Given the description of an element on the screen output the (x, y) to click on. 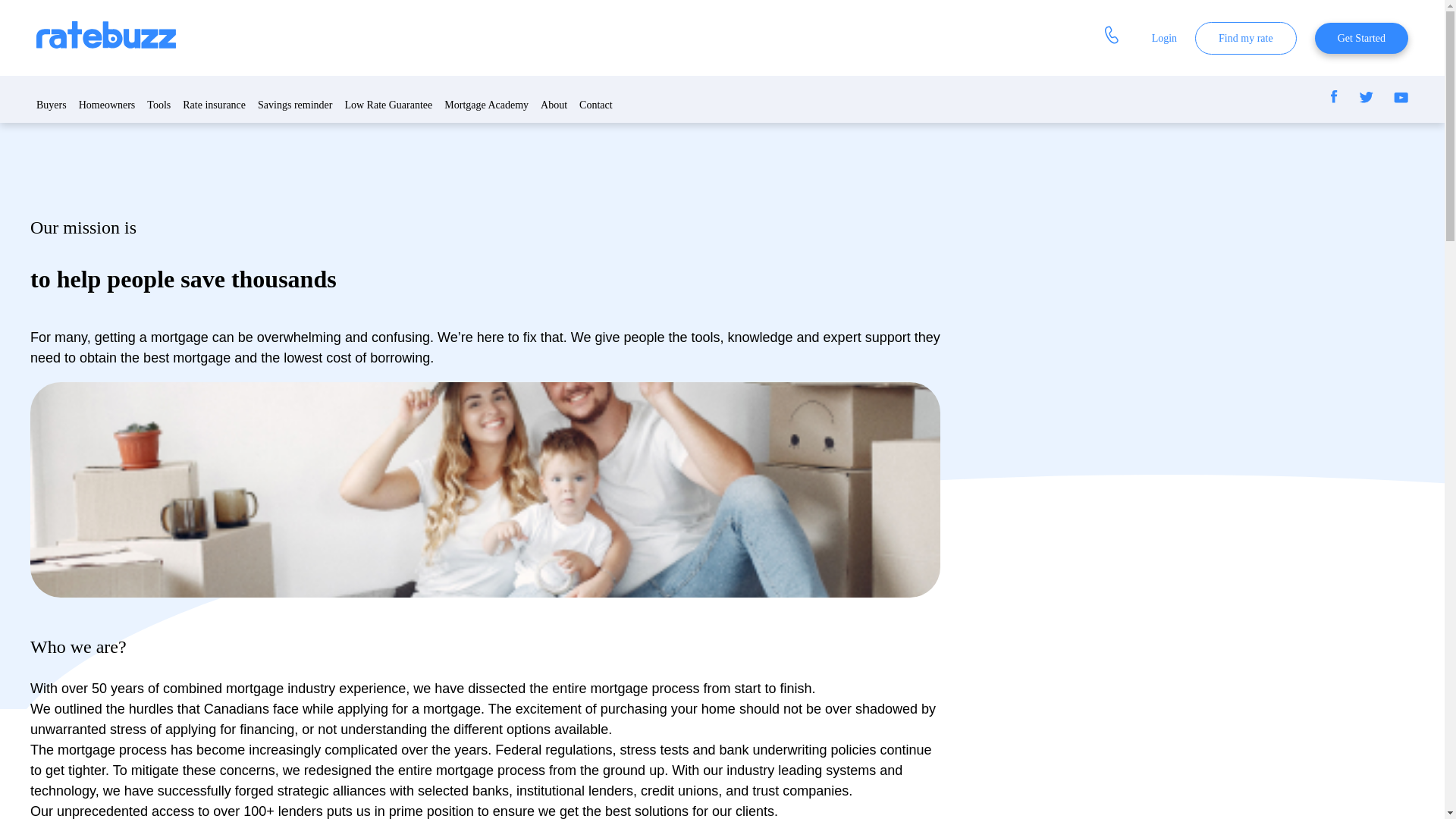
Contact (595, 104)
Tools (158, 104)
About (553, 104)
Find my rate (1246, 37)
Login (1163, 37)
Buyers (51, 104)
Mortgage Academy (486, 104)
Savings reminder (294, 104)
Low Rate Guarantee (387, 104)
Get Started (1360, 38)
Rate insurance (214, 104)
Homeowners (106, 104)
